Given the description of an element on the screen output the (x, y) to click on. 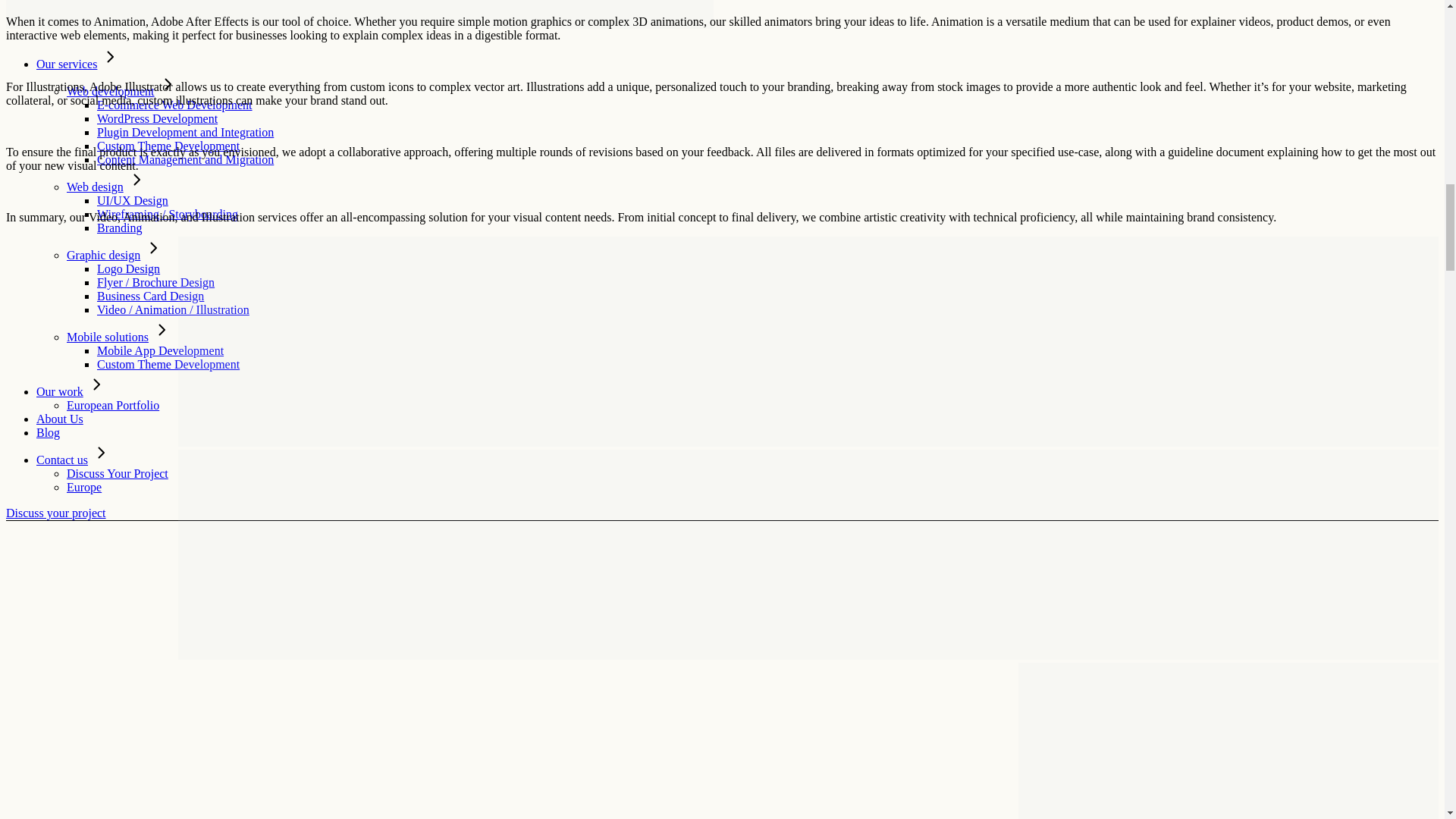
Our services (78, 63)
Plugin Development and Integration (185, 132)
Our work (71, 391)
Web development (122, 91)
Blog (47, 431)
Discuss your project (55, 512)
Mobile solutions (119, 336)
Graphic design (115, 254)
Logo Design (128, 268)
Europe (83, 486)
